Given the description of an element on the screen output the (x, y) to click on. 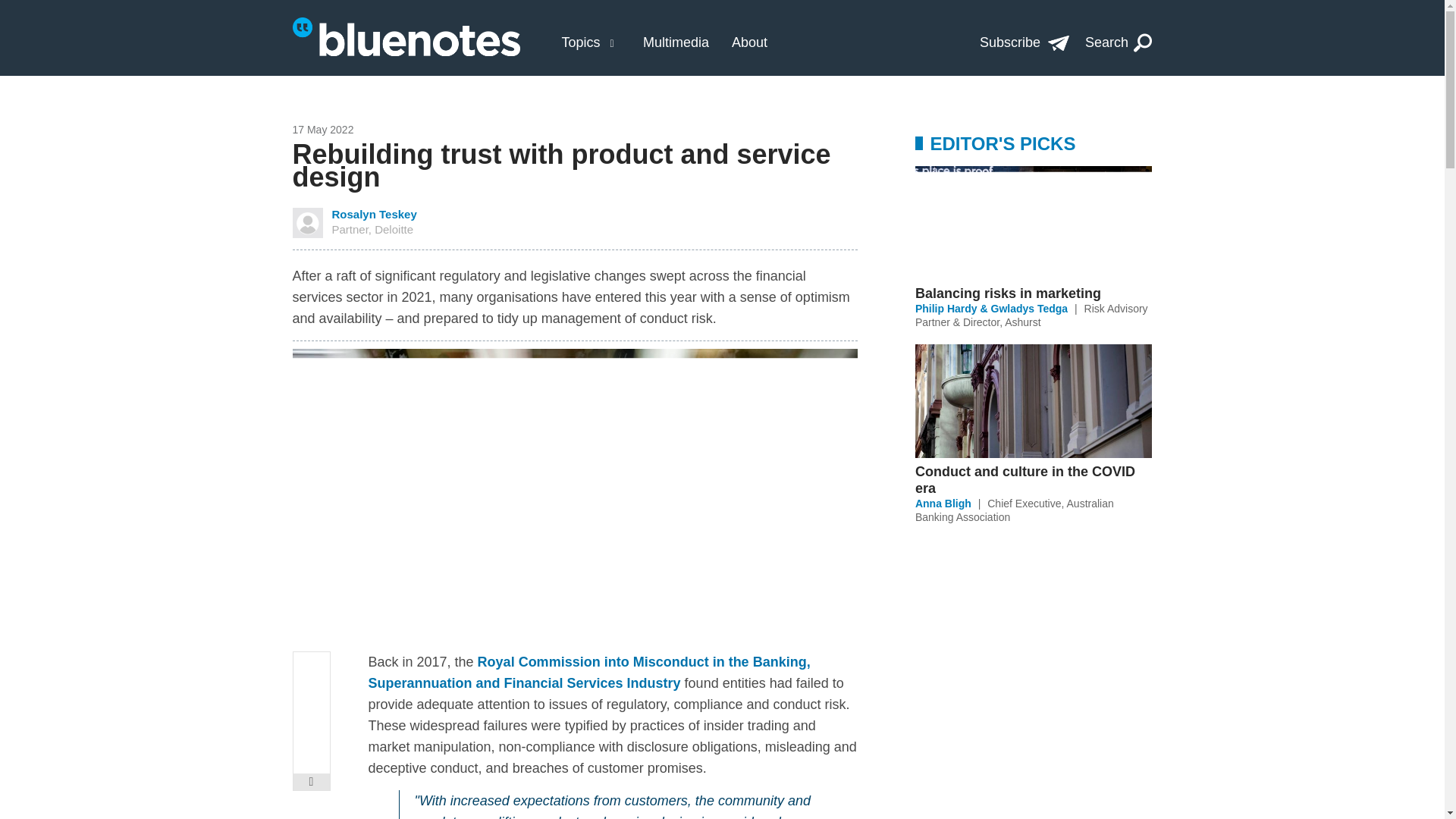
Subscribe (1023, 42)
Topics (579, 42)
Search (1118, 42)
About (749, 42)
Conduct and culture in the COVID era (1033, 479)
Balancing risks in marketing  (1033, 293)
Chief Executive, Australian Banking Association  (1014, 510)
Multimedia (676, 42)
